Given the description of an element on the screen output the (x, y) to click on. 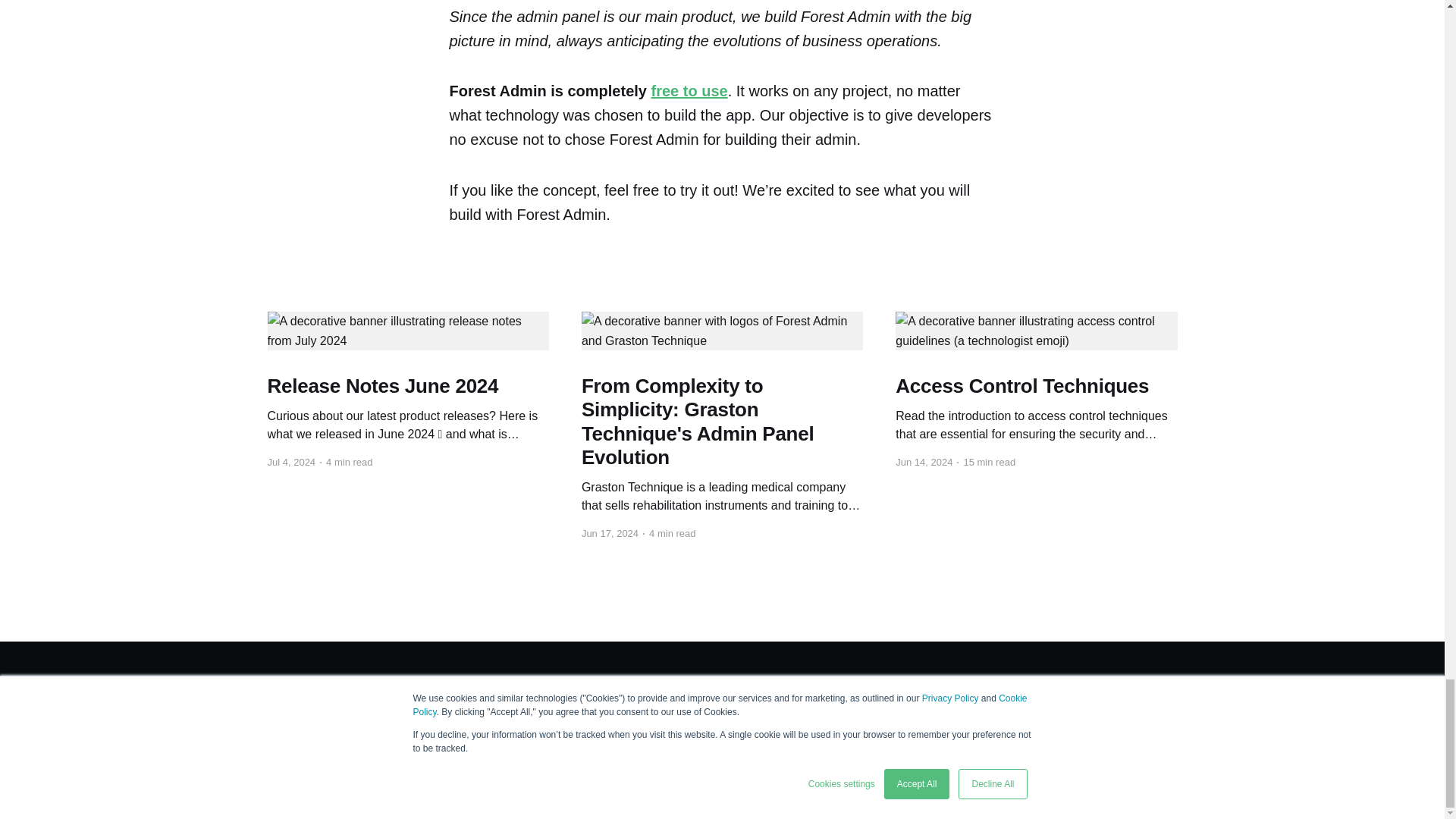
Powered by Ghost (1136, 686)
Forest Admin Blog (305, 686)
free to use (688, 90)
